Given the description of an element on the screen output the (x, y) to click on. 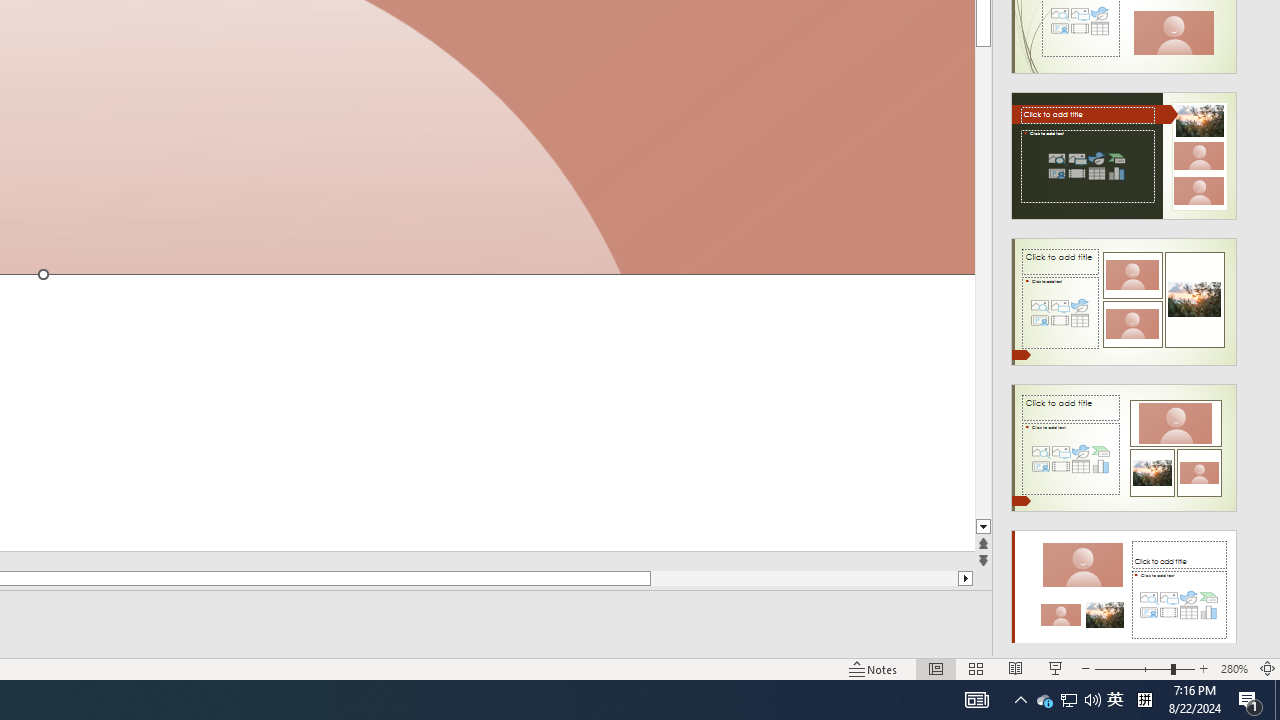
Line down (983, 527)
Design Idea (1124, 587)
Zoom 280% (1234, 668)
Page down (983, 283)
